Given the description of an element on the screen output the (x, y) to click on. 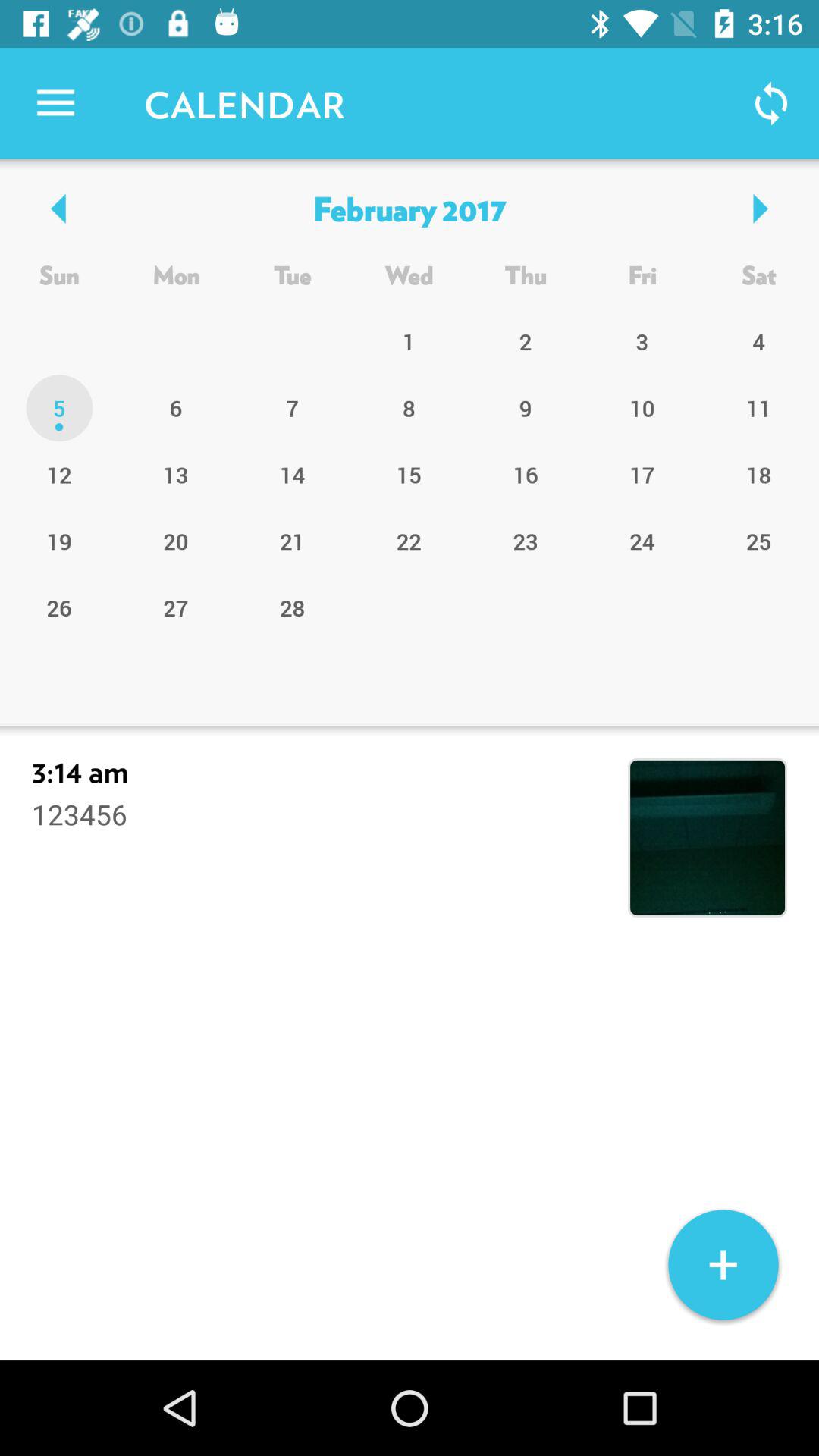
press icon to the left of the 1 icon (292, 407)
